Given the description of an element on the screen output the (x, y) to click on. 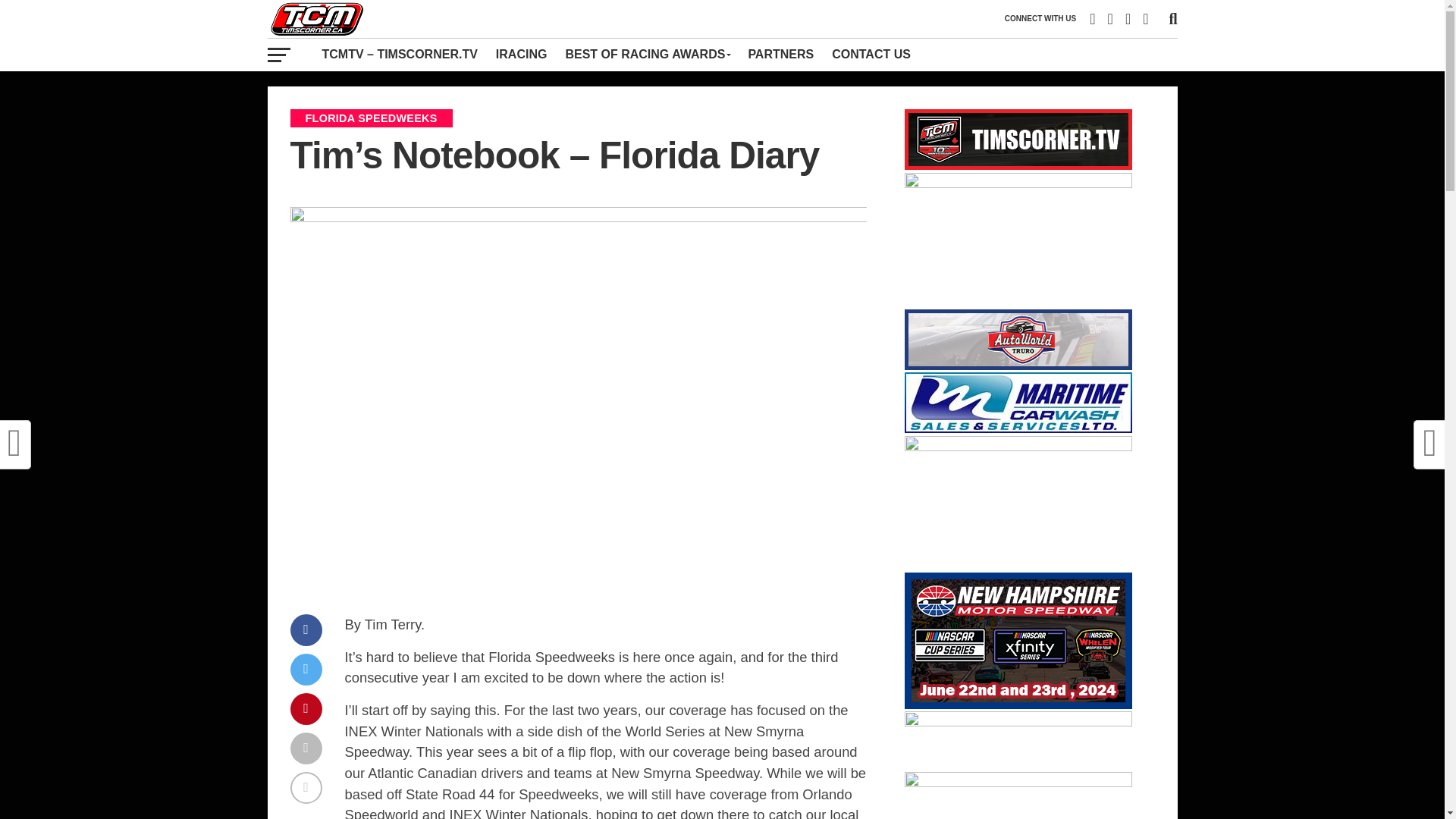
IRACING (521, 54)
CONTACT US (871, 54)
PARTNERS (780, 54)
BEST OF RACING AWARDS (647, 54)
